Given the description of an element on the screen output the (x, y) to click on. 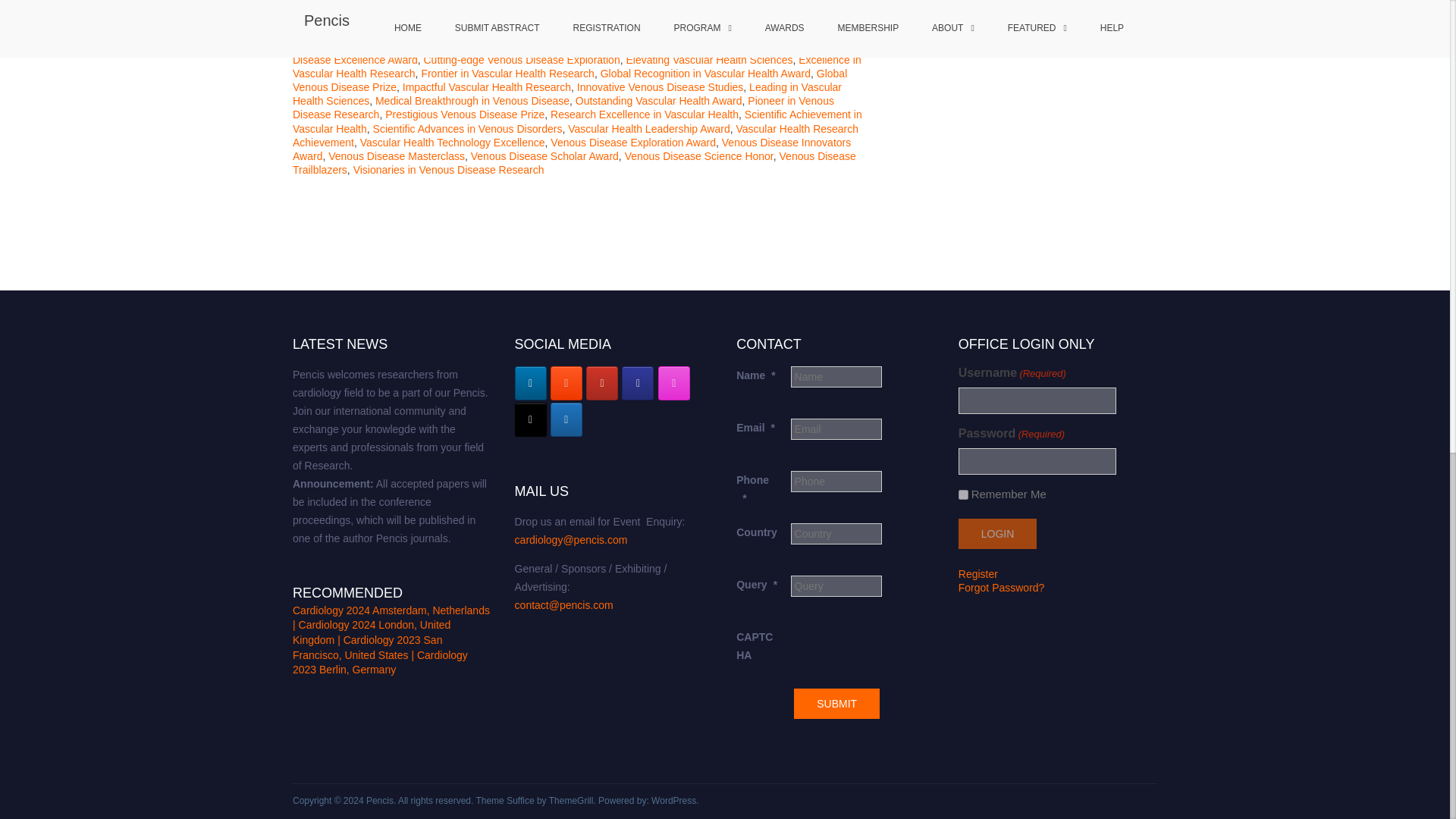
WordPress (672, 800)
Biography (366, 46)
Pencis on X Twitter (531, 419)
Frontier in Vascular Health Research (507, 73)
Suffice (520, 800)
Cutting-edge Venous Disease Exploration (521, 60)
Forgot Password? (1001, 587)
Register (977, 573)
Pencis (379, 800)
Advanced Vascular Health Award (523, 46)
Submit (836, 703)
